Given the description of an element on the screen output the (x, y) to click on. 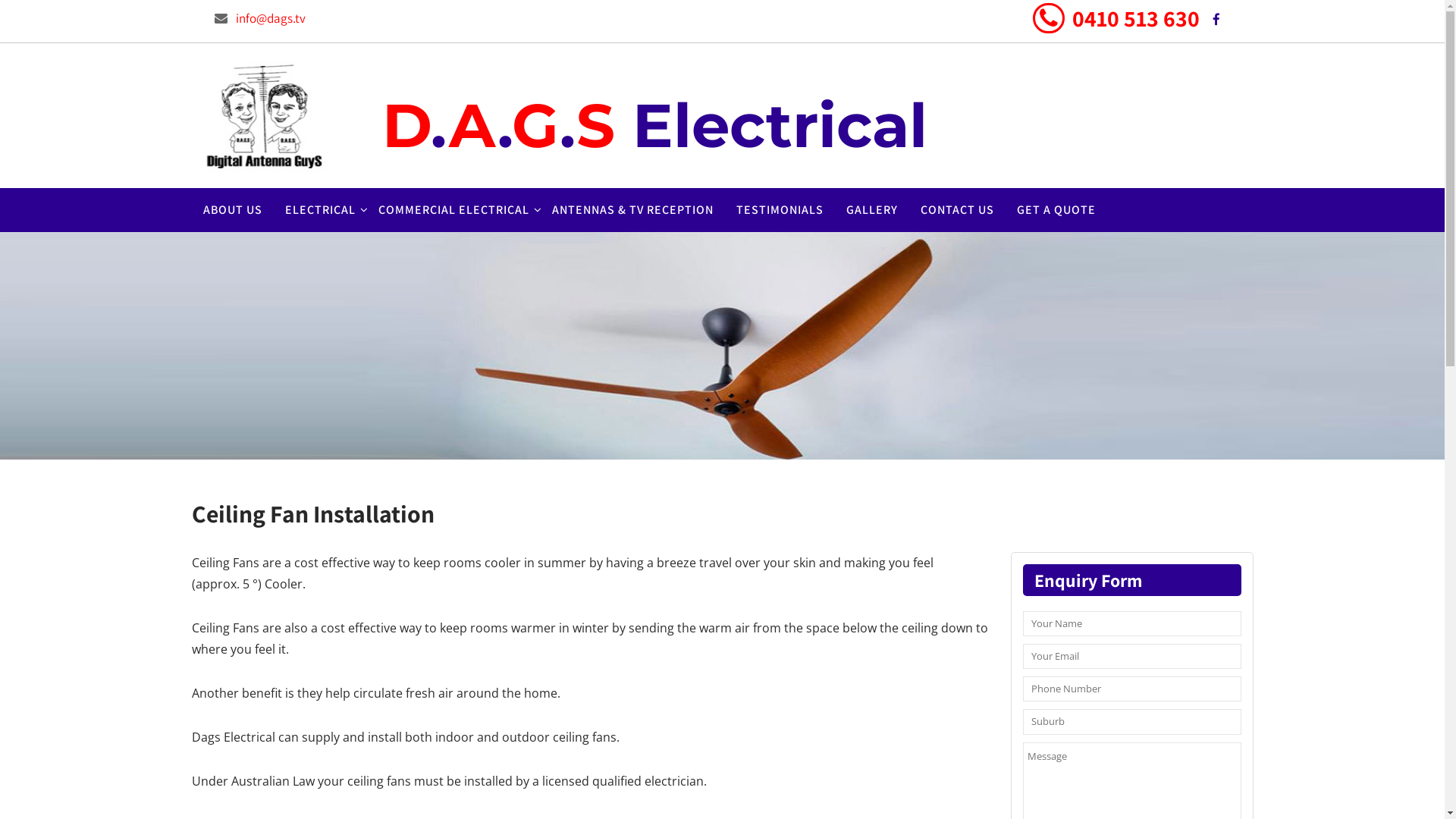
ELECTRICAL Element type: text (319, 209)
Dags Electrical Element type: hover (263, 176)
0410 513 630 Element type: text (1135, 18)
TESTIMONIALS Element type: text (779, 209)
ABOUT US Element type: text (232, 209)
CONTACT US Element type: text (956, 209)
GET A QUOTE Element type: text (1056, 209)
GALLERY Element type: text (871, 209)
facebook Element type: hover (1216, 19)
ANTENNAS & TV RECEPTION Element type: text (631, 209)
COMMERCIAL ELECTRICAL Element type: text (453, 209)
info@dags.tv Element type: text (269, 17)
